Given the description of an element on the screen output the (x, y) to click on. 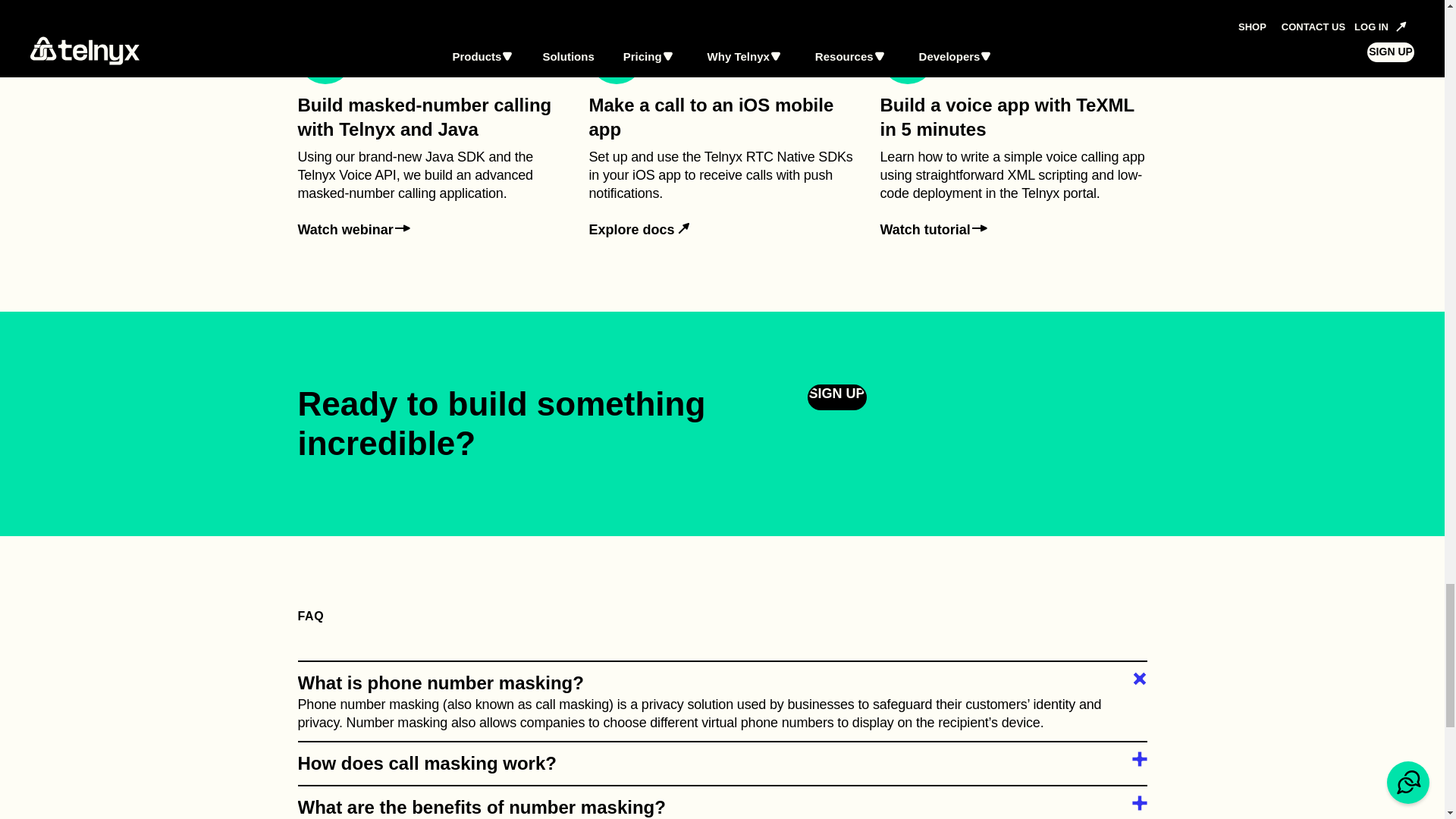
Phone number masking - Resource 3 (1013, 134)
What are the benefits of number masking? (354, 229)
SIGN UP (722, 807)
Phone number masking - Resource 1 (934, 229)
Phone number masking - Resource 2 (641, 229)
How does call masking work? (836, 397)
What is phone number masking? (430, 134)
